Given the description of an element on the screen output the (x, y) to click on. 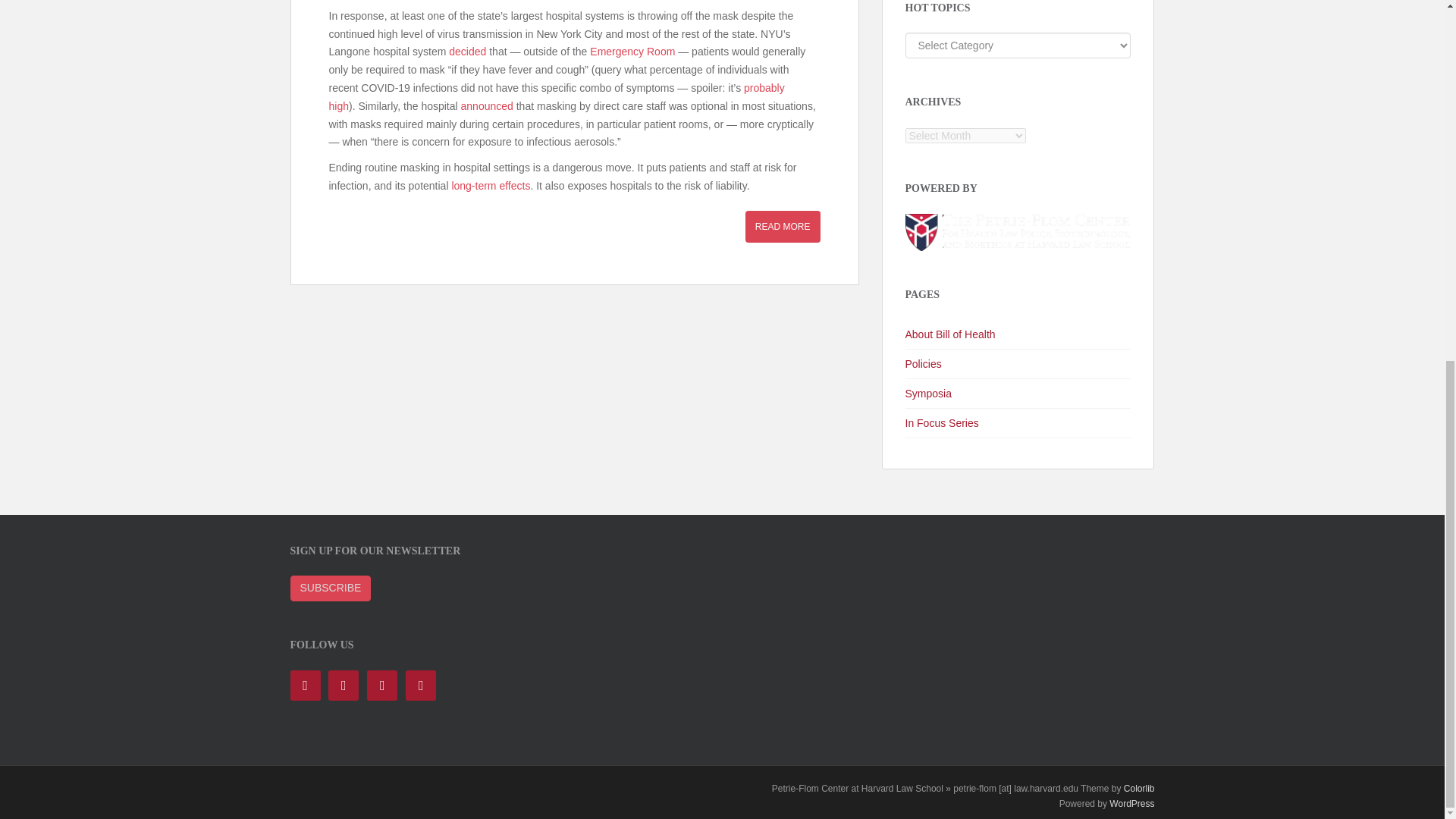
long-term effects (490, 185)
SUBSCRIBE (330, 588)
In Focus Series (1018, 423)
announced (487, 105)
probably high (556, 96)
READ MORE (783, 226)
Emergency Room (632, 51)
About Bill of Health (1018, 334)
Policies (1018, 364)
Symposia (1018, 393)
decided (467, 51)
